Given the description of an element on the screen output the (x, y) to click on. 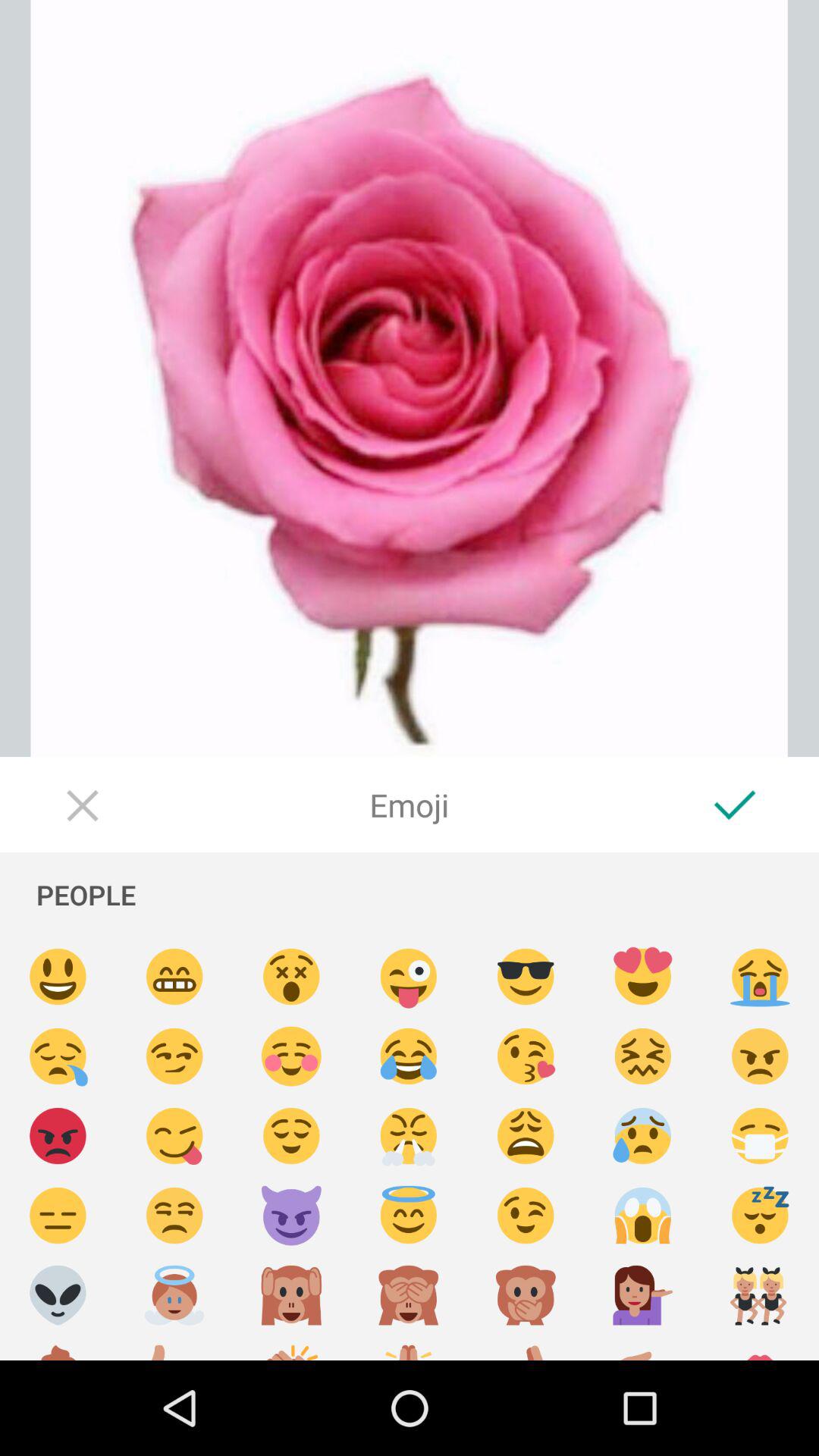
surgical mask emoji (760, 1136)
